Given the description of an element on the screen output the (x, y) to click on. 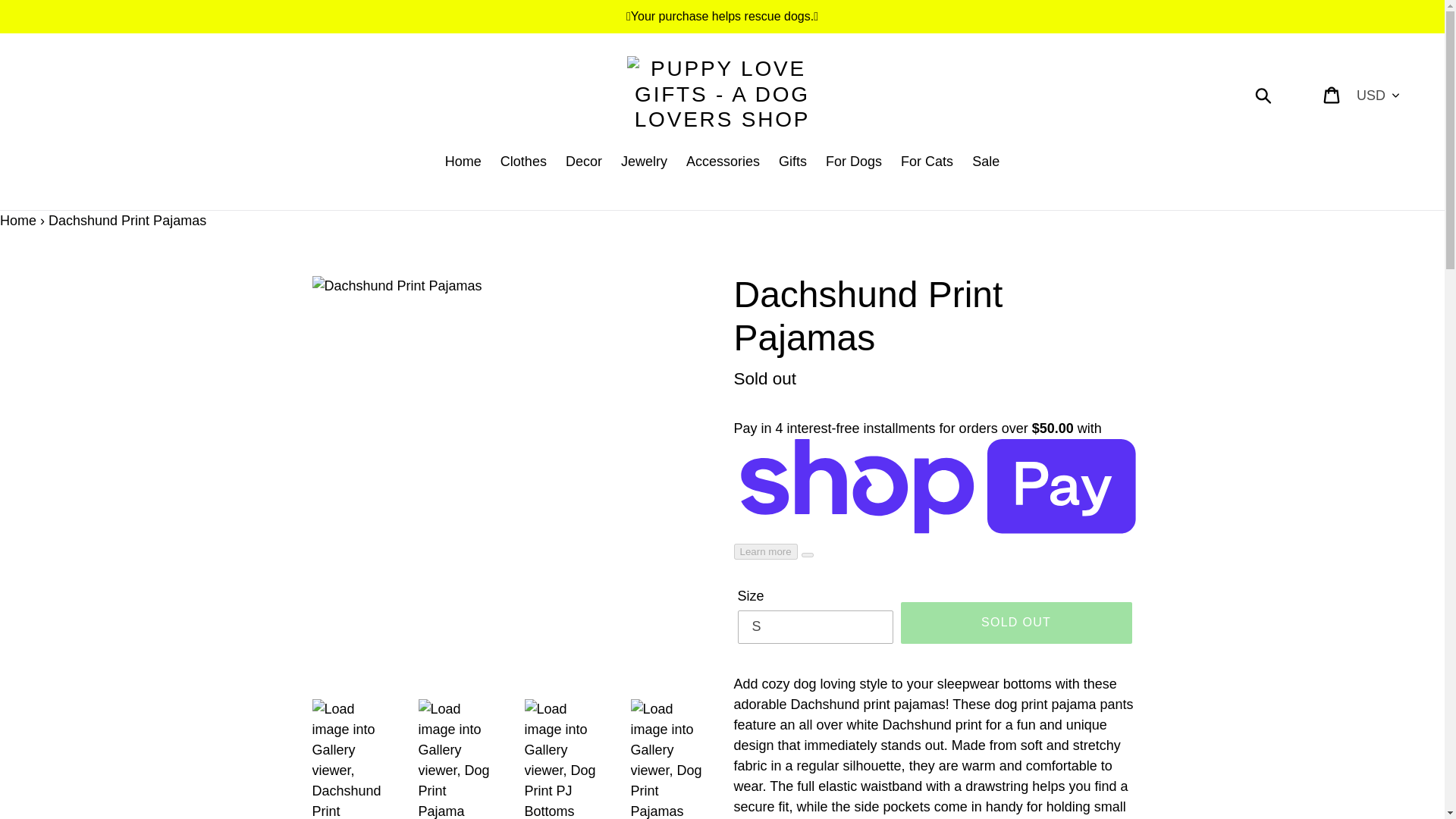
Clothes (523, 162)
SOLD OUT (1016, 621)
For Cats (926, 162)
Home (18, 220)
Decor (583, 162)
Accessories (722, 162)
Jewelry (643, 162)
Gifts (792, 162)
Home (463, 162)
For Dogs (853, 162)
